Given the description of an element on the screen output the (x, y) to click on. 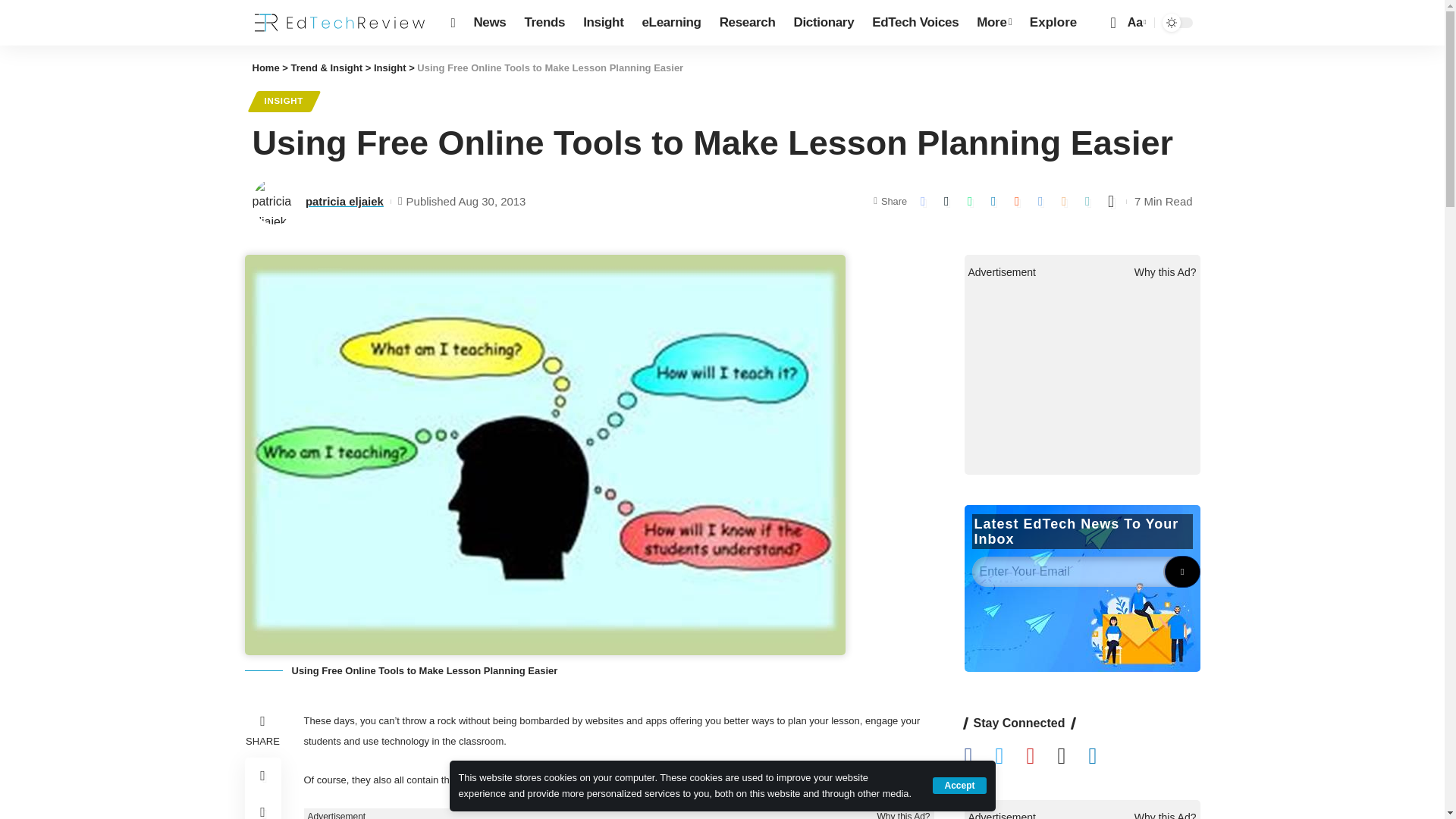
Go to EdTechReview. (265, 67)
News (489, 22)
EdTechReview (338, 22)
EdTech Voices (915, 22)
Follow EdTechReview on Instagram (1072, 756)
Follow EdTechReview on Twitter (1010, 756)
Accept (959, 785)
Follow EdTechReview on LinkedIn (1103, 756)
Follow EdTechReview on Facebook (979, 756)
Go to the Insight Category archives. (390, 67)
Insight (602, 22)
Trends (544, 22)
Follow EdTechReview on YouTube (1041, 756)
More (994, 22)
